Given the description of an element on the screen output the (x, y) to click on. 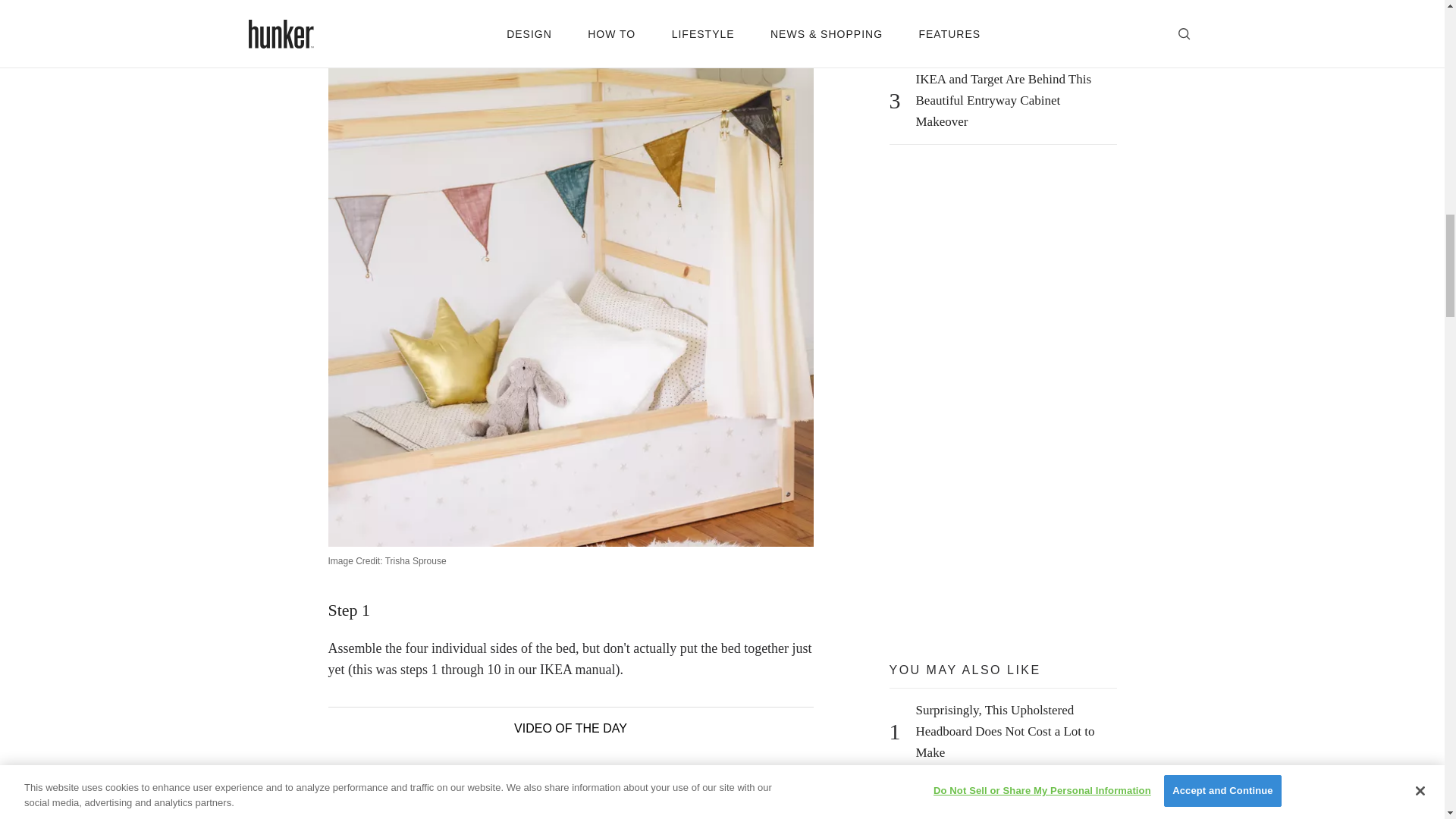
How to Hem Pants Using Iron-On Adhesive Tape (1012, 803)
